Given the description of an element on the screen output the (x, y) to click on. 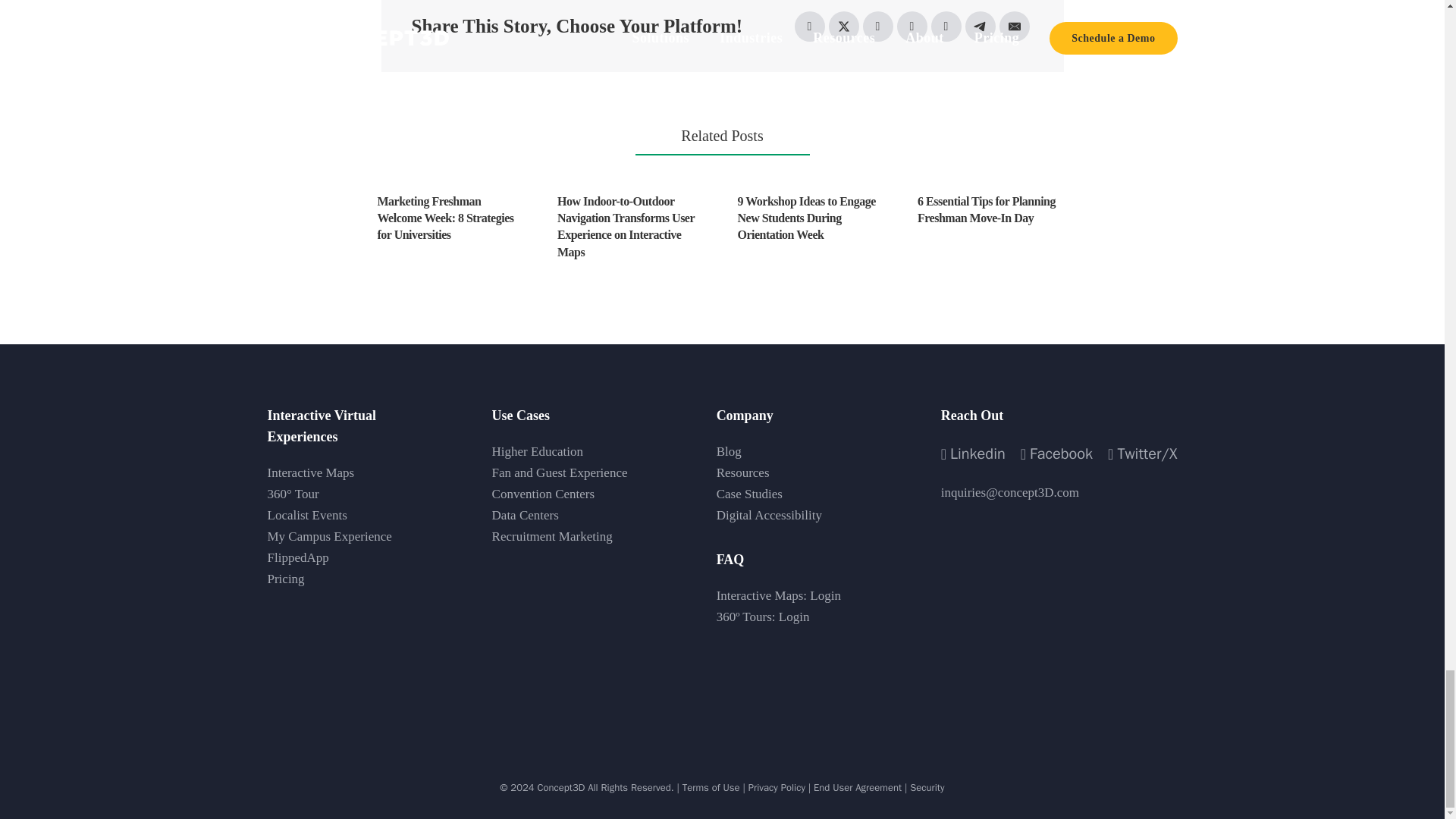
Visit Concept3D on Facebook (1056, 453)
Visit Concept3D on Twitter (1142, 453)
Visit Concept3D on LinkedIn (973, 453)
